Given the description of an element on the screen output the (x, y) to click on. 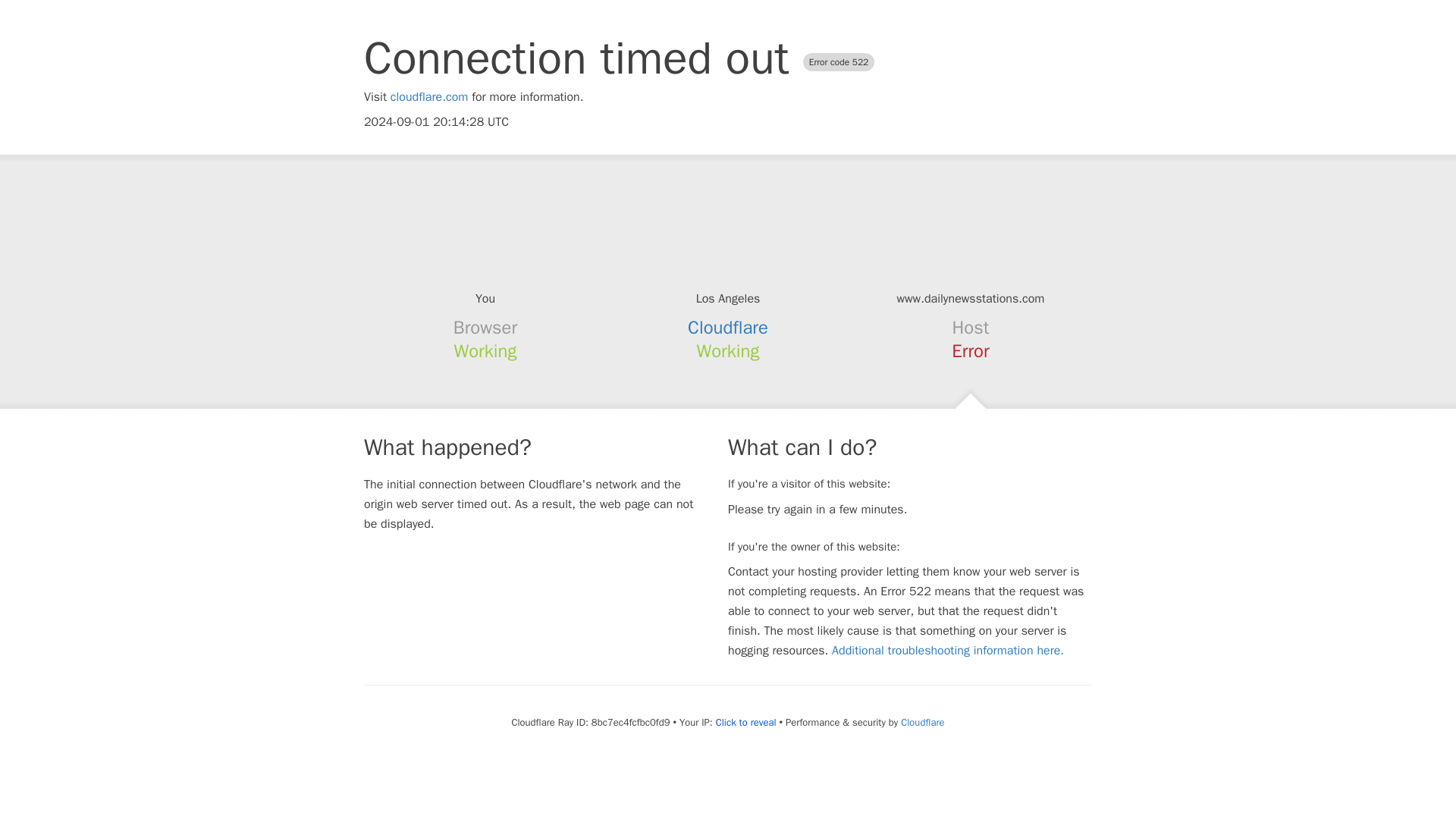
Cloudflare (727, 327)
Click to reveal (746, 722)
Cloudflare (922, 721)
Additional troubleshooting information here. (947, 650)
cloudflare.com (429, 96)
